Given the description of an element on the screen output the (x, y) to click on. 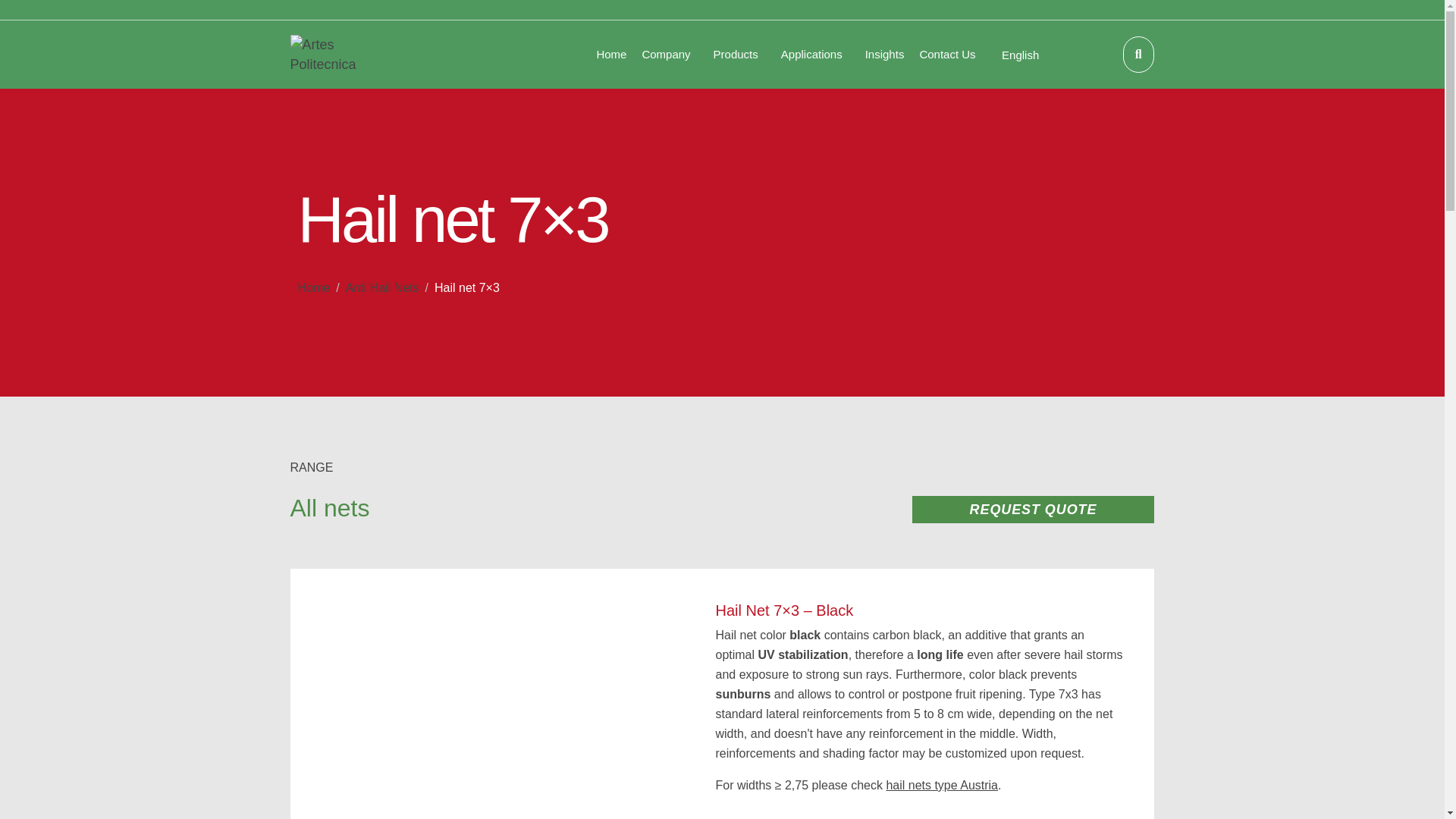
Products (739, 54)
English (1019, 54)
Home (610, 54)
Applications (815, 54)
Company (668, 54)
